Given the description of an element on the screen output the (x, y) to click on. 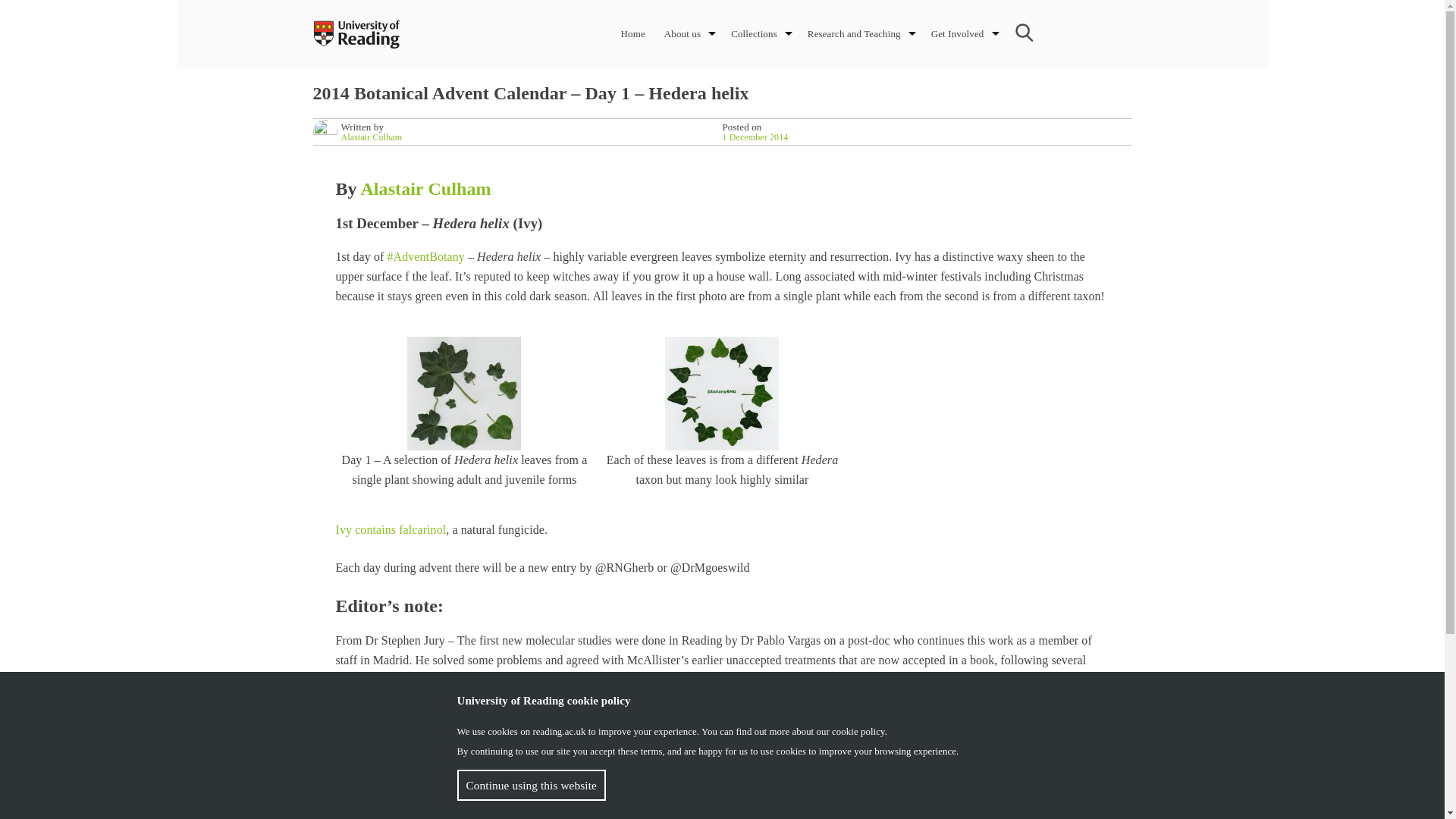
Alastair Culham (424, 189)
Home (633, 33)
Research and Teaching (854, 33)
Alastair Culham (371, 136)
Chem Advent day 2 (389, 529)
Get Involved (957, 33)
About us (681, 33)
Collections (753, 33)
1 December 2014 (754, 136)
